Given the description of an element on the screen output the (x, y) to click on. 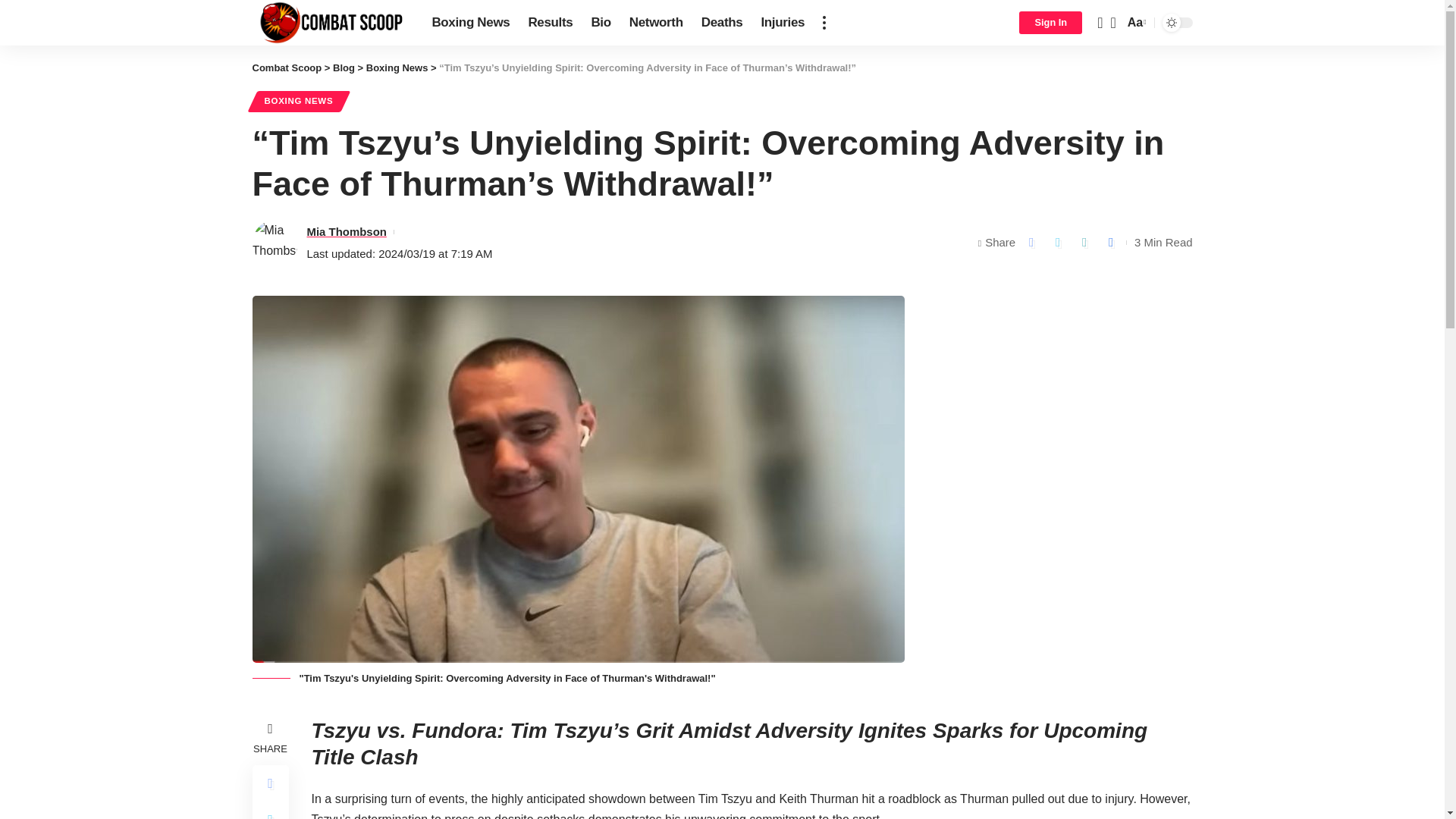
Go to the Boxing News Category archives. (397, 67)
Aa (1135, 22)
Boxing News (470, 22)
Combat Scoop (329, 22)
Go to Combat Scoop. (286, 67)
Sign In (1050, 22)
Results (549, 22)
Injuries (782, 22)
Go to Blog. (344, 67)
Deaths (722, 22)
